Given the description of an element on the screen output the (x, y) to click on. 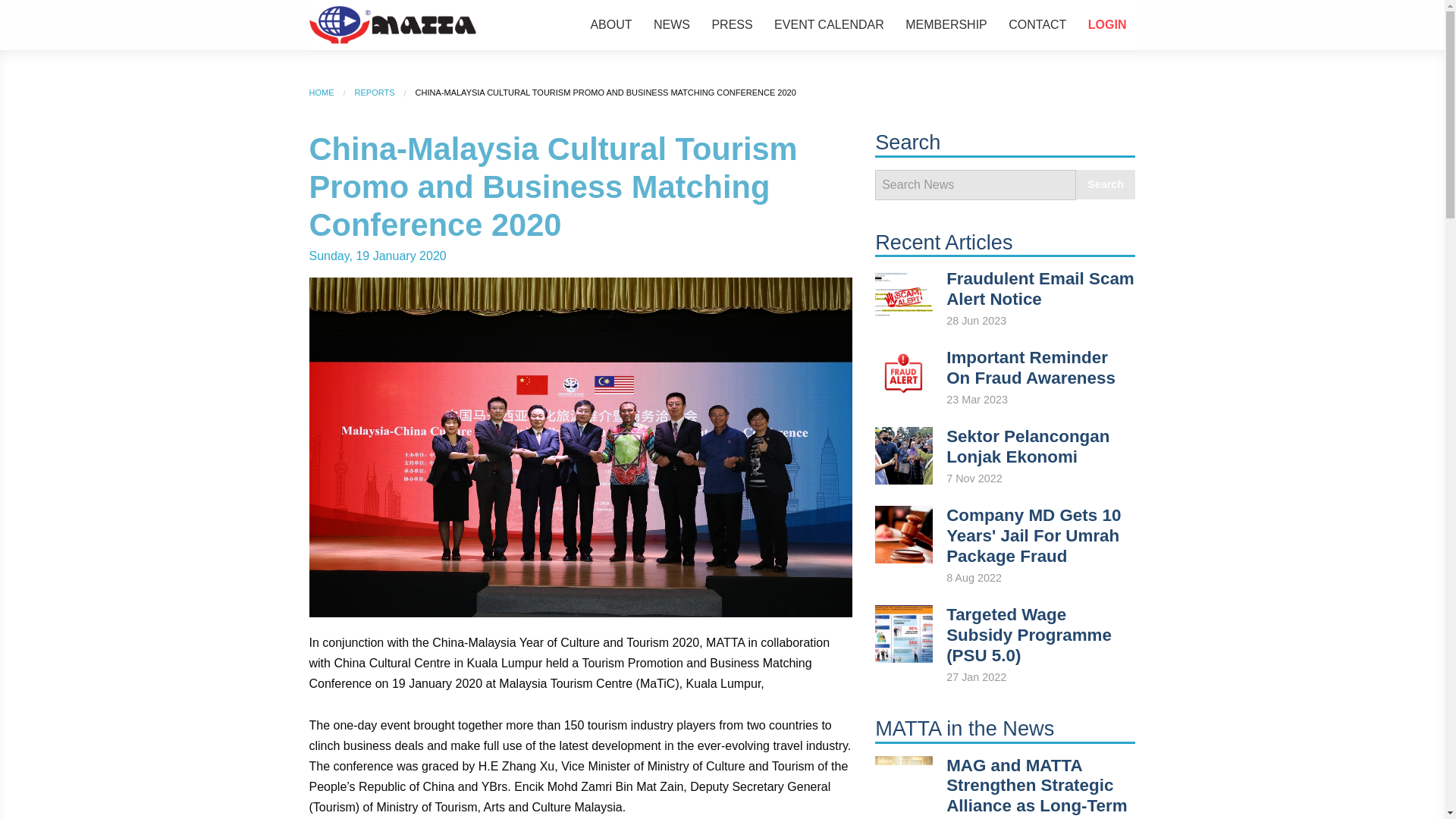
Search (1105, 184)
Fraudulent Email Scam Alert Notice (1040, 288)
CONTACT (1037, 24)
REPORTS (374, 92)
MEMBERSHIP (946, 24)
HOME (321, 92)
EVENT CALENDAR (828, 24)
Search (1105, 184)
